Given the description of an element on the screen output the (x, y) to click on. 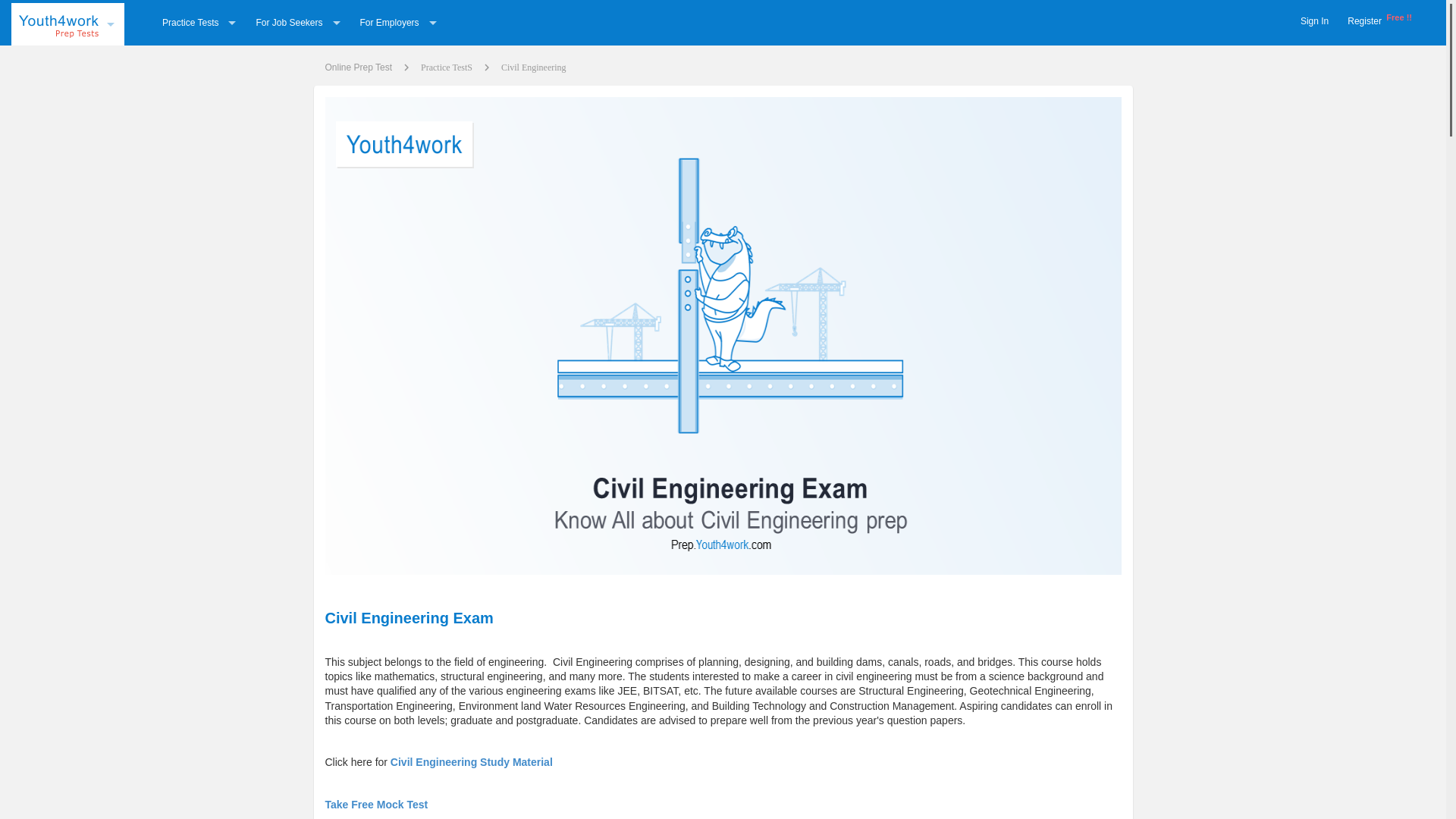
Practice Tests (199, 22)
Sign In (1314, 21)
For Employers (398, 22)
For Job Seekers (297, 22)
Register  Free !! (1379, 21)
